Given the description of an element on the screen output the (x, y) to click on. 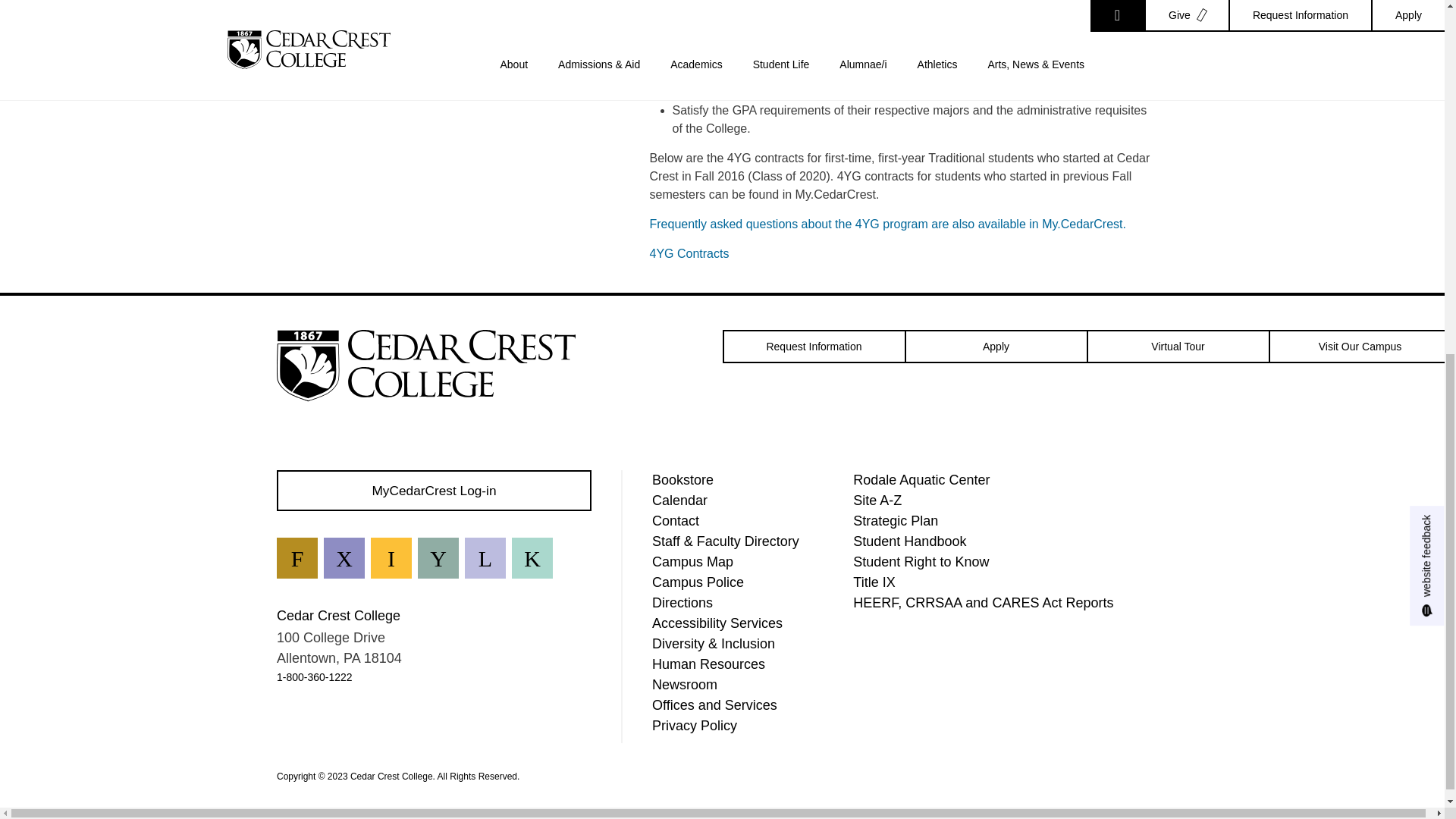
Cedar Crest College (425, 365)
